Given the description of an element on the screen output the (x, y) to click on. 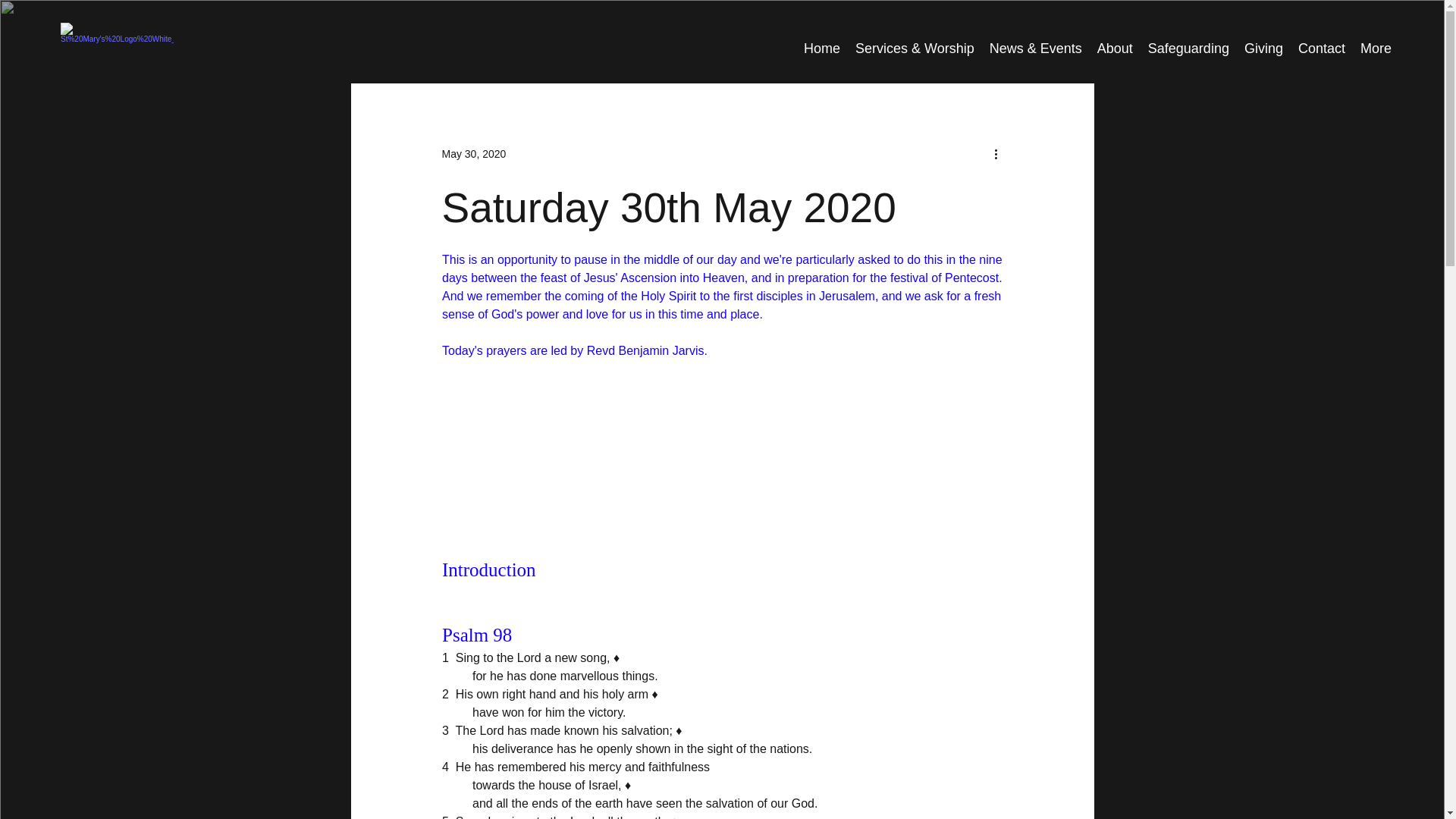
Giving (1263, 49)
Safeguarding (1188, 49)
Contact (1321, 49)
May 30, 2020 (473, 152)
Home (821, 49)
